Given the description of an element on the screen output the (x, y) to click on. 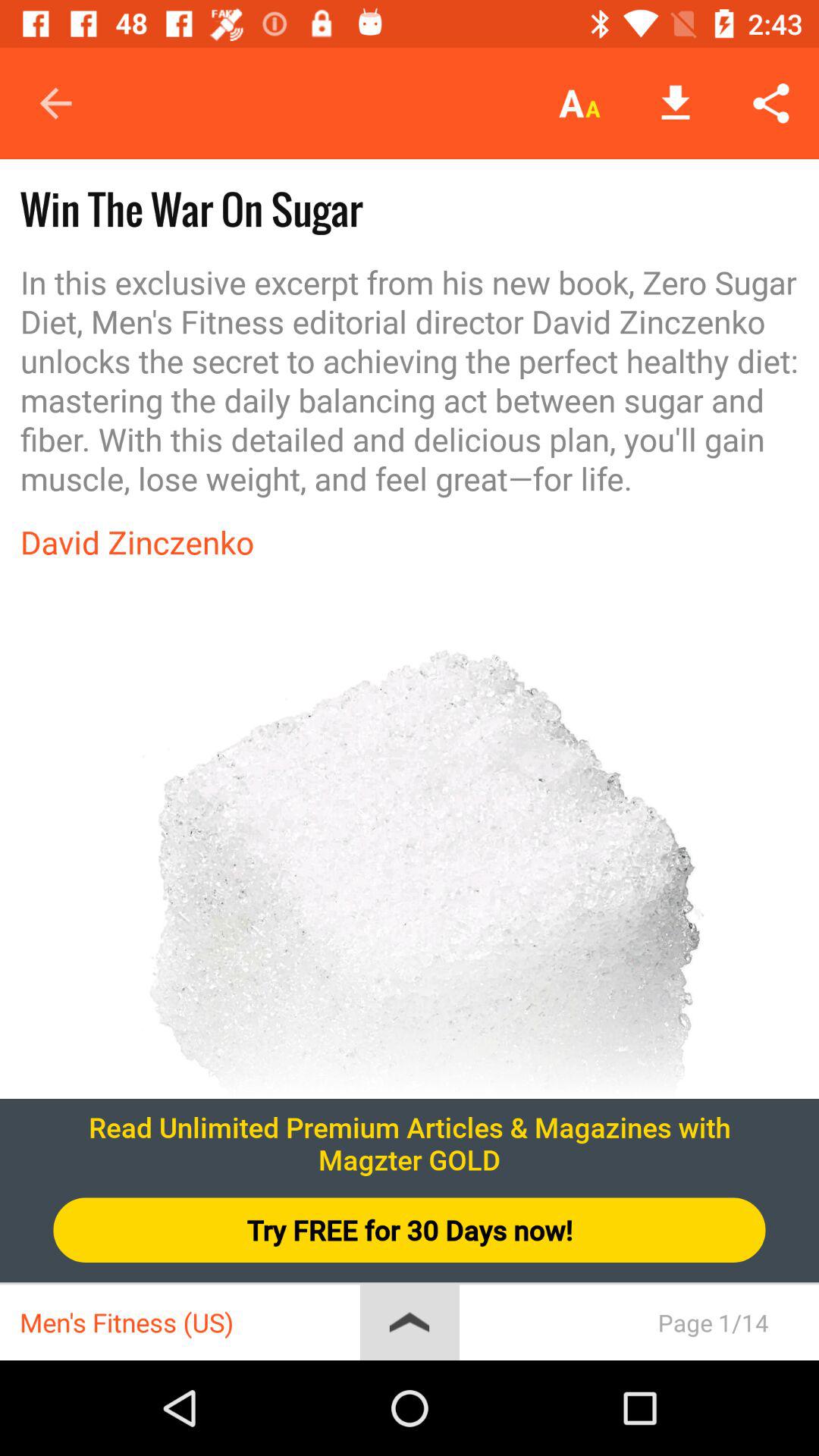
turn off icon above in this exclusive (579, 103)
